Given the description of an element on the screen output the (x, y) to click on. 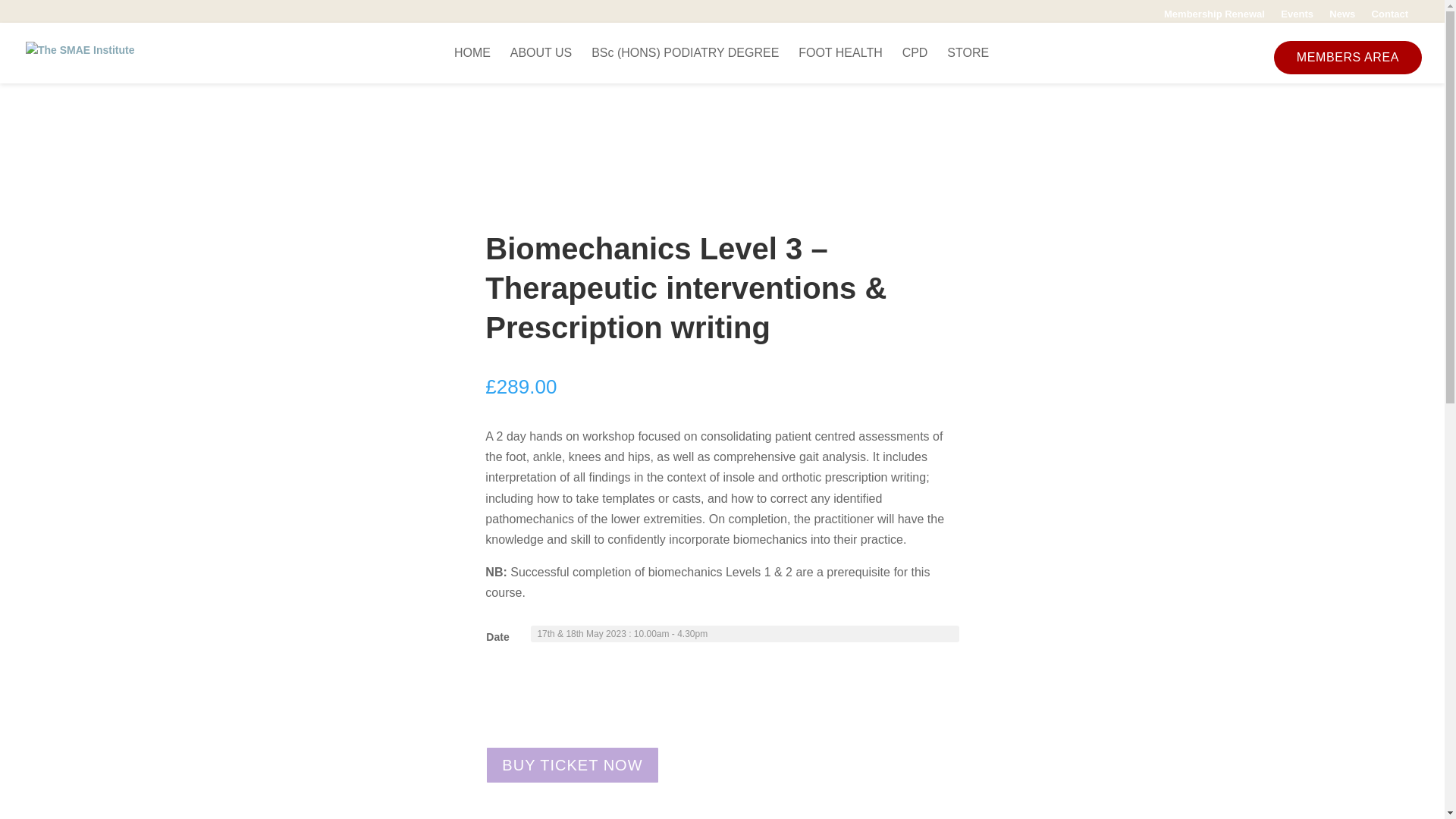
News (1342, 17)
HOME (472, 65)
MEMBERS AREA (1348, 57)
Events (1297, 17)
Membership Renewal (1214, 17)
STORE (967, 65)
ABOUT US (541, 65)
FOOT HEALTH (839, 65)
BUY TICKET NOW (571, 764)
Contact (1389, 17)
